Given the description of an element on the screen output the (x, y) to click on. 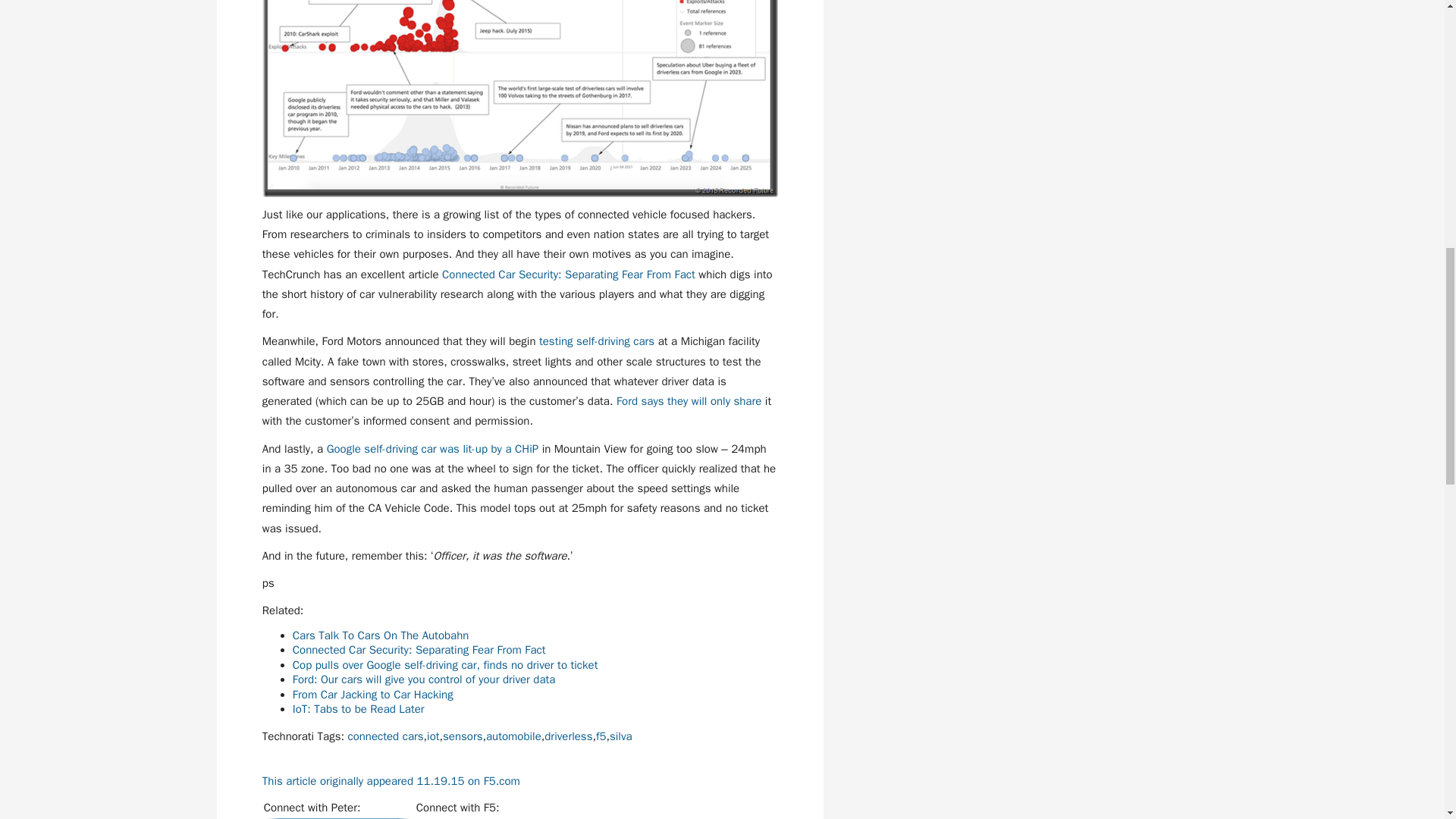
From Car Jacking to Car Hacking (372, 694)
testing self-driving cars (595, 341)
Connected Car Security: Separating Fear From Fact (419, 649)
Connected Car Security: Separating Fear From Fact (568, 274)
Ford: Our cars will give you control of your driver data (424, 679)
Cars Talk To Cars On The Autobahn (380, 635)
automobile (513, 735)
Google self-driving car was lit-up by a CHiP (432, 448)
Ford says they will only share (688, 400)
